Given the description of an element on the screen output the (x, y) to click on. 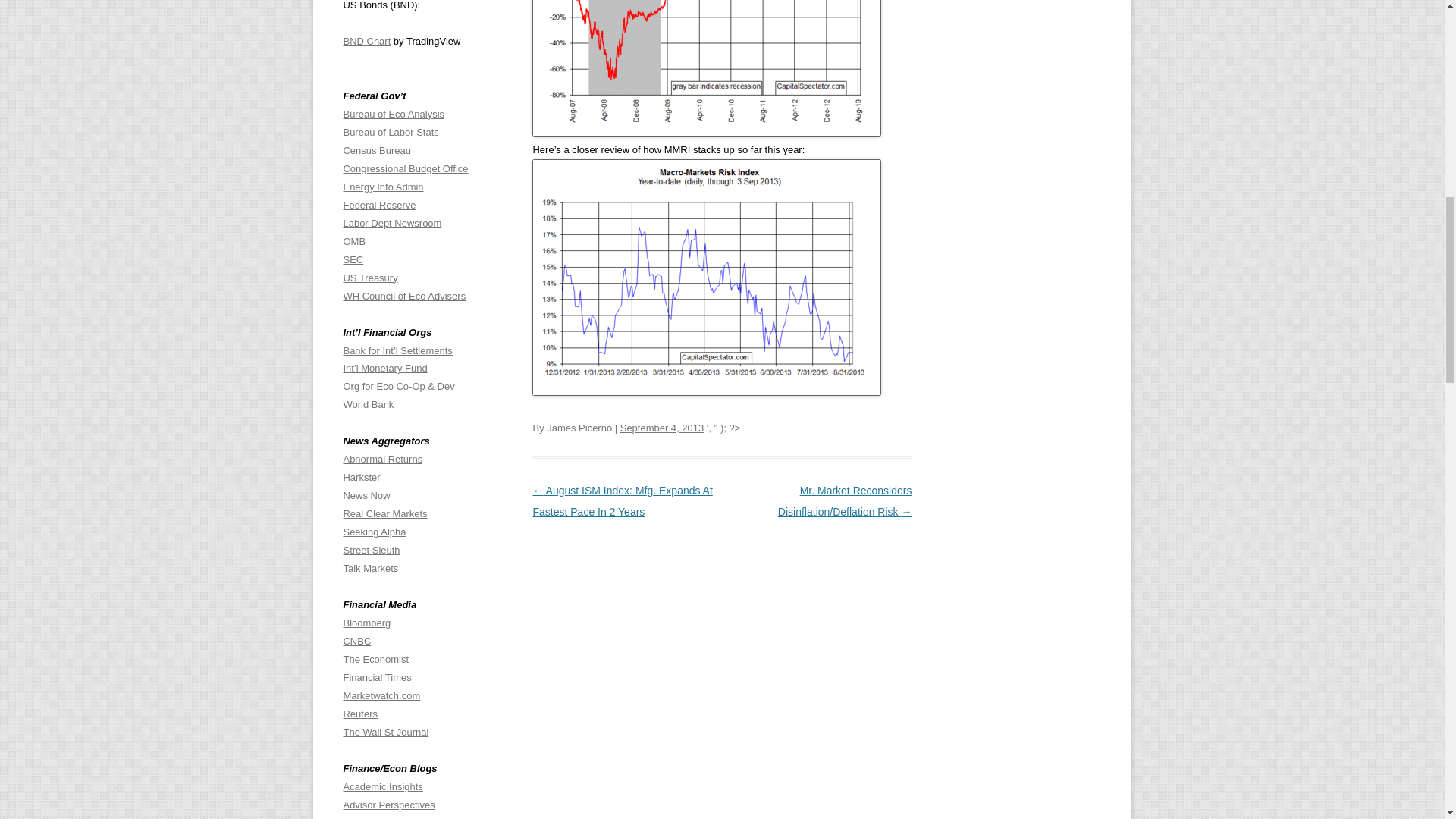
September 4, 2013 (661, 428)
6:00 am (661, 428)
